Given the description of an element on the screen output the (x, y) to click on. 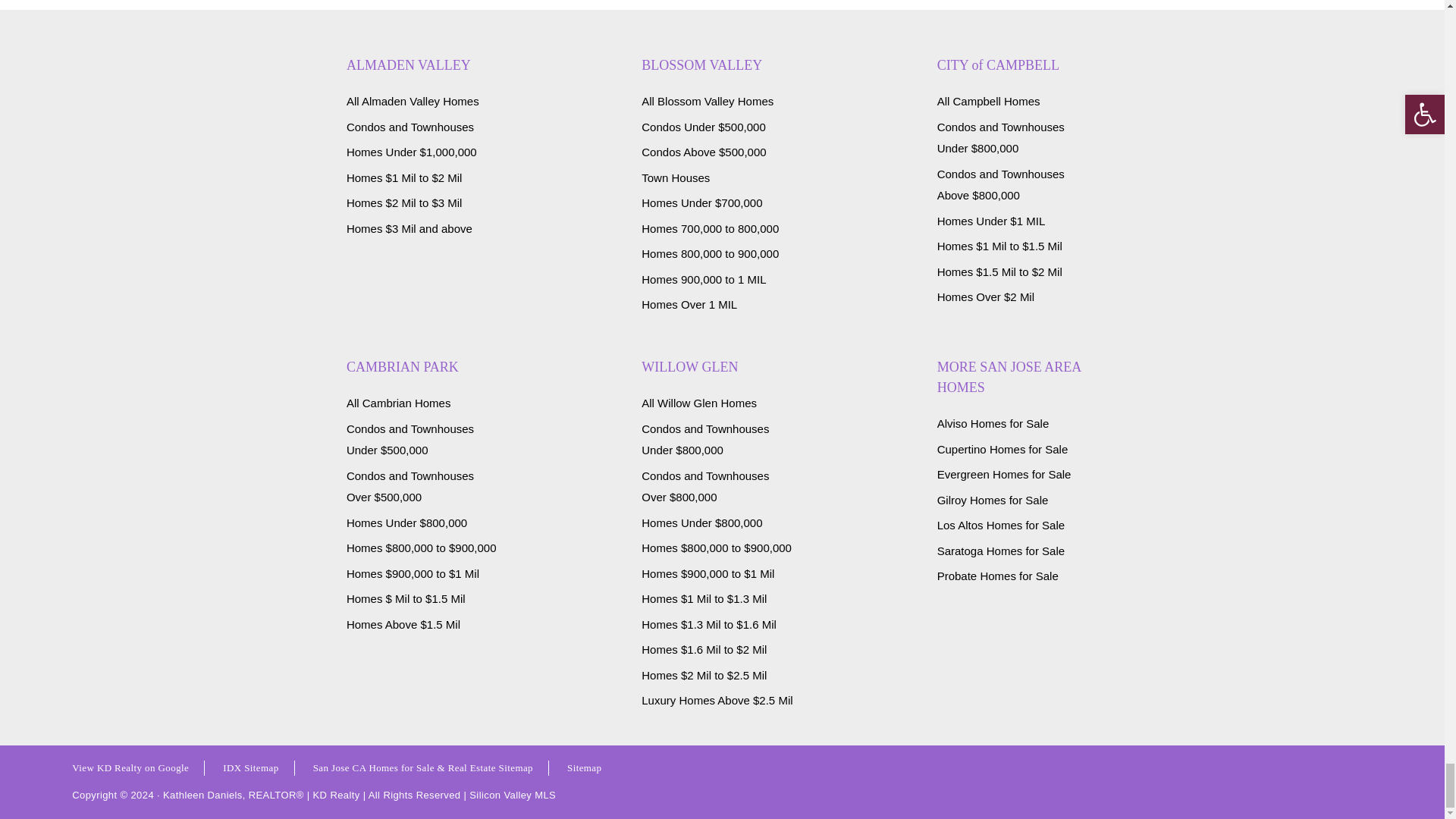
San Jose CA Homes for Sale and Real Estate Sitemap (251, 767)
